Given the description of an element on the screen output the (x, y) to click on. 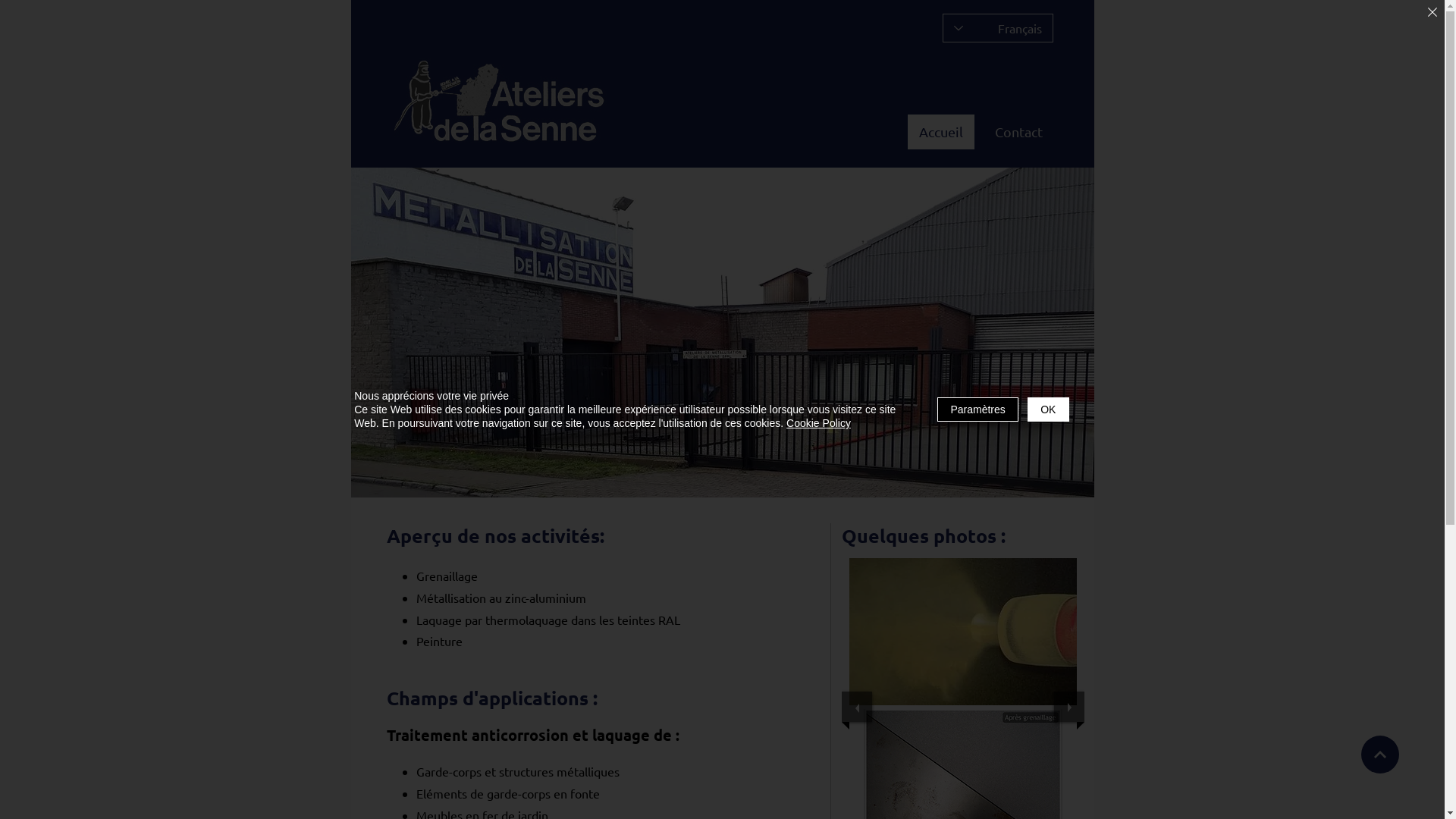
OK Element type: text (1048, 409)
Contact Element type: text (1017, 131)
Accueil Element type: text (939, 131)
Cookie Policy Element type: text (818, 423)
